Given the description of an element on the screen output the (x, y) to click on. 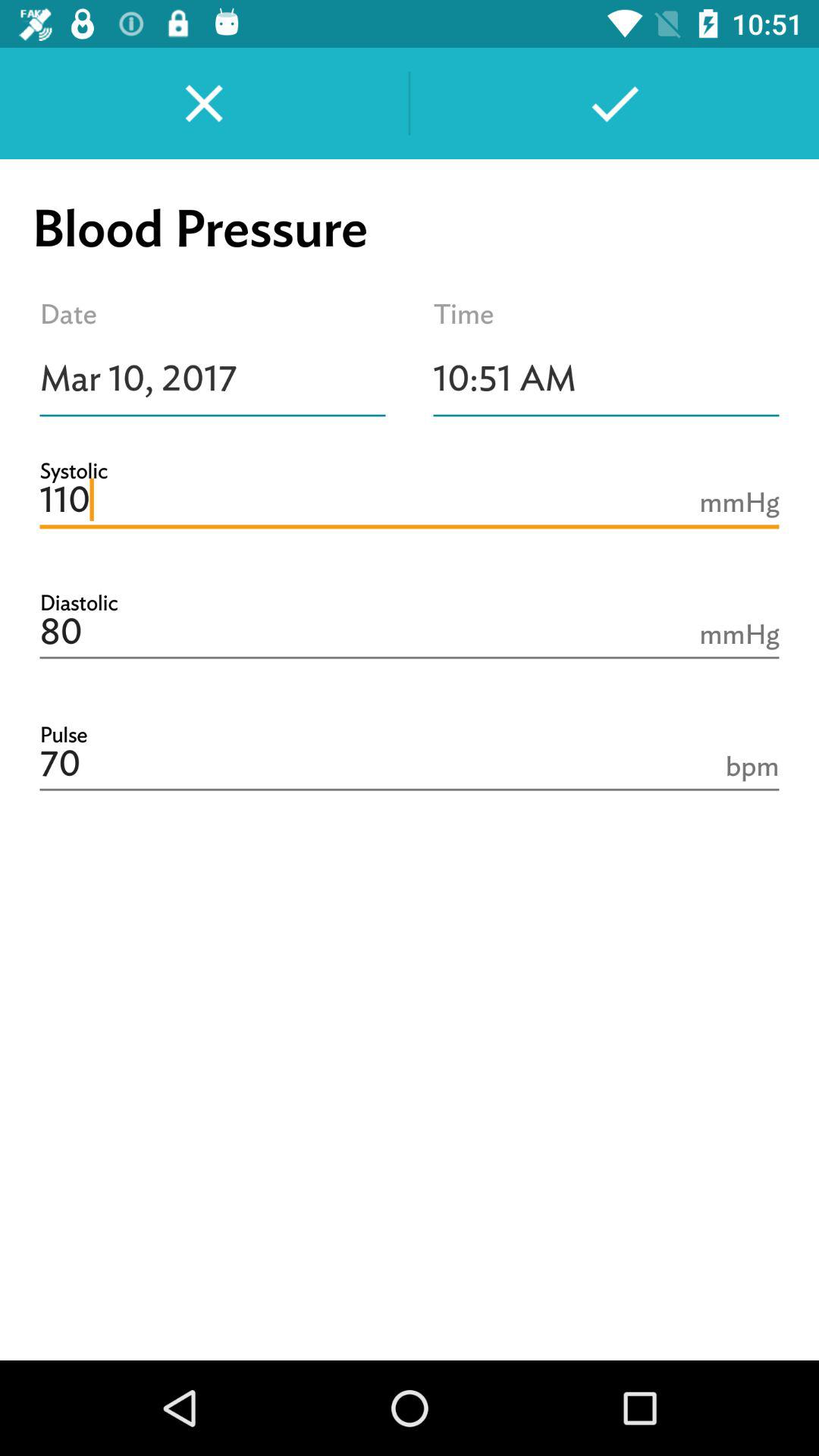
scroll until the 110 (409, 500)
